Given the description of an element on the screen output the (x, y) to click on. 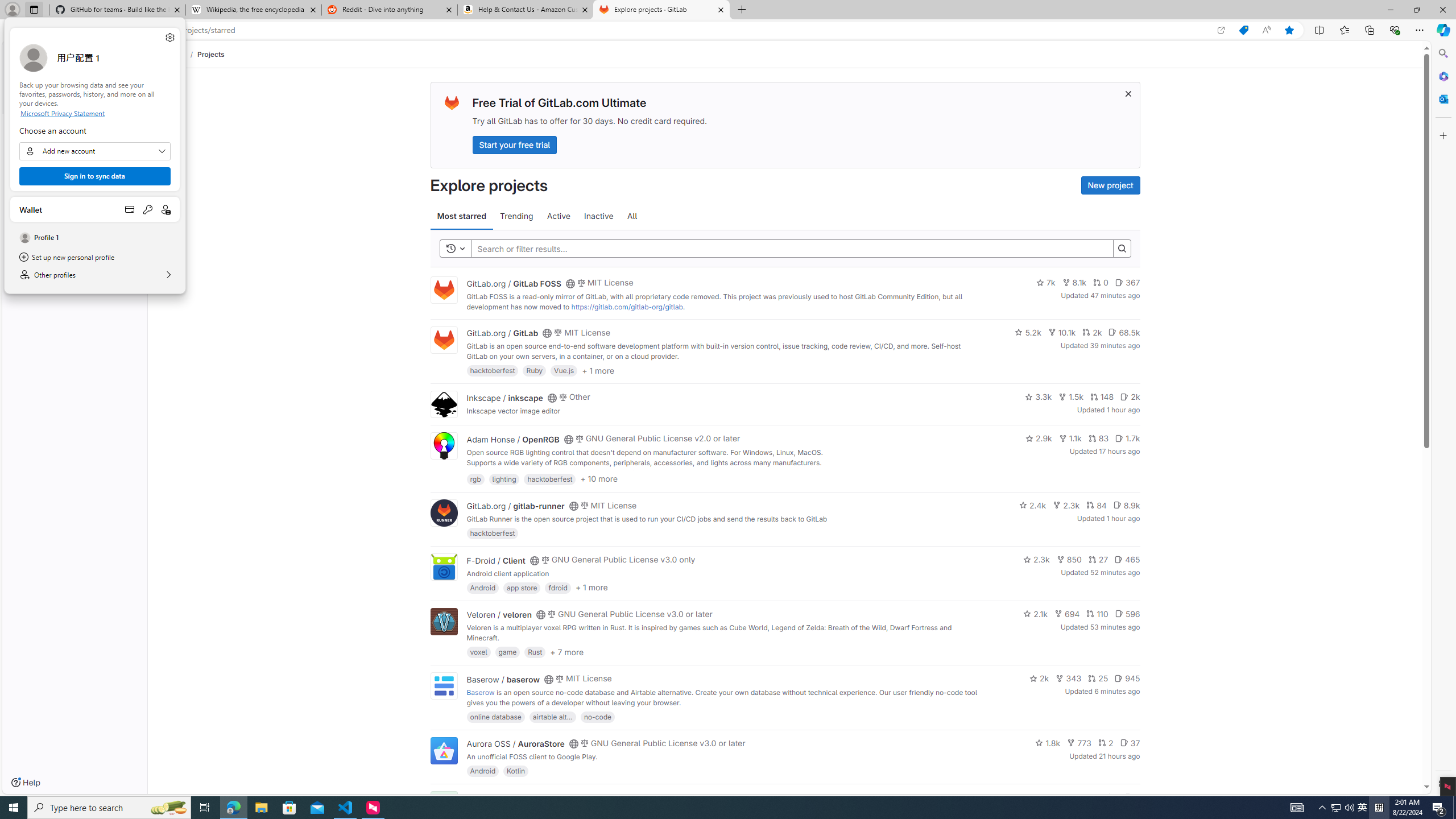
25 (1097, 678)
68.5k (1124, 331)
Choose an account (94, 151)
945 (1127, 678)
8.1k (1073, 282)
Task View (204, 807)
Class: project (443, 750)
83 (1098, 438)
2.4k (1032, 504)
All (632, 216)
Baserow (480, 691)
